Given the description of an element on the screen output the (x, y) to click on. 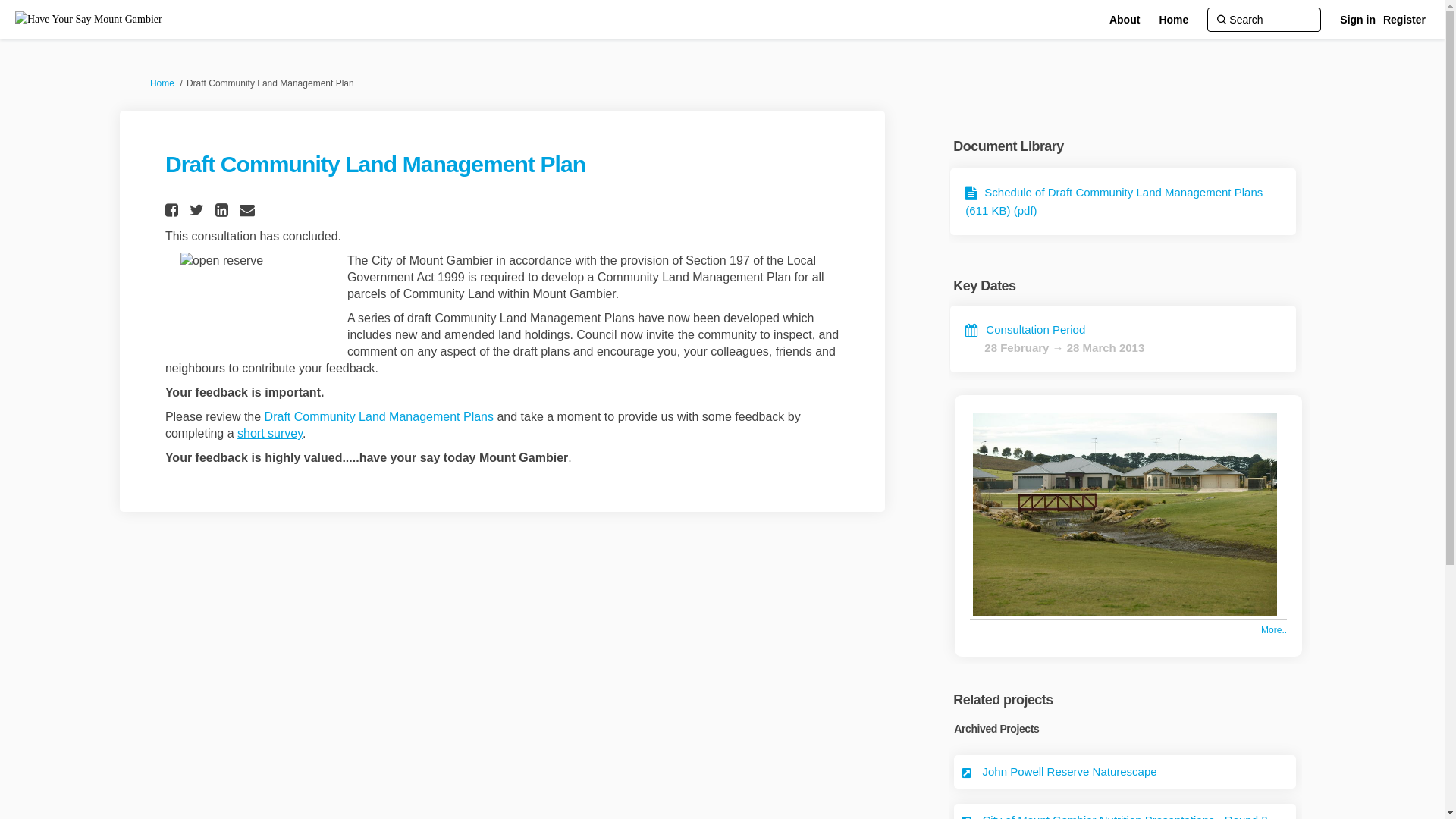
short survey Element type: text (269, 432)
Register Element type: text (1404, 19)
Home Element type: text (162, 83)
About Element type: text (1124, 19)
More.. Element type: text (1273, 629)
John Powell Reserve Naturescape Element type: text (1069, 771)
open reserve Element type: hover (256, 302)
Draft Community Land Management Plans Element type: text (380, 416)
Consultation Period Element type: text (1025, 329)
Sign in Element type: text (1357, 19)
Home Element type: text (1173, 19)
